Given the description of an element on the screen output the (x, y) to click on. 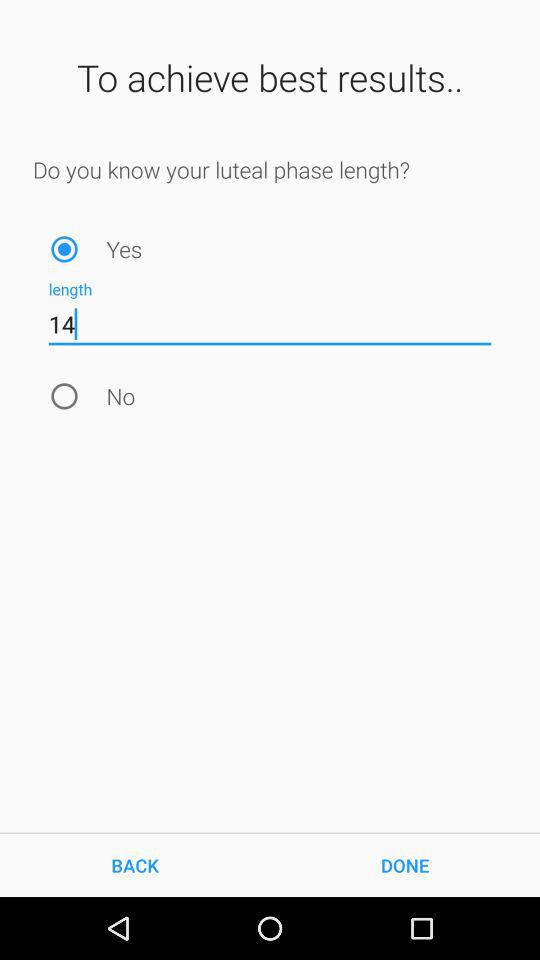
yes option (64, 248)
